Given the description of an element on the screen output the (x, y) to click on. 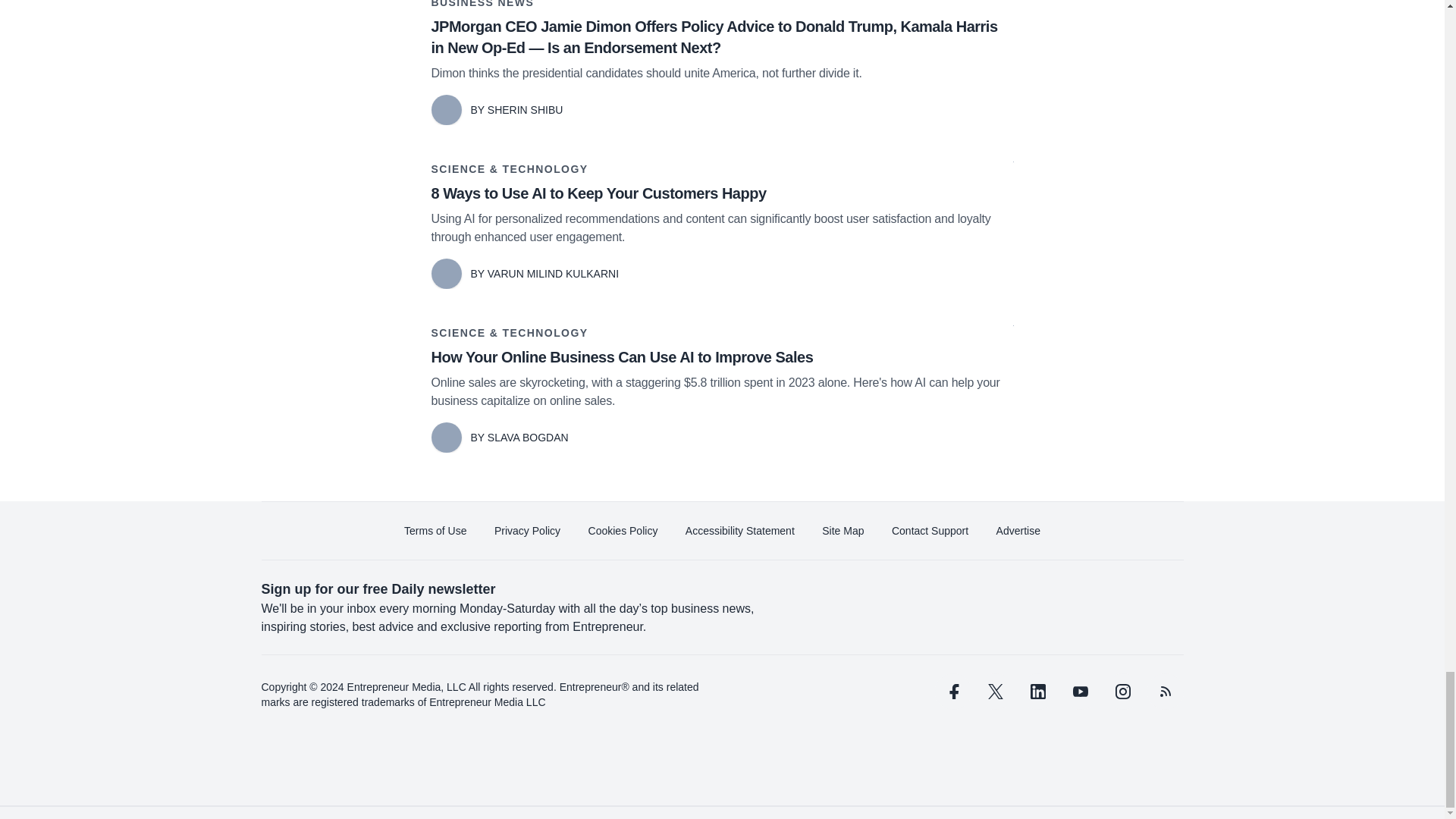
instagram (1121, 691)
linkedin (1037, 691)
youtube (1079, 691)
facebook (952, 691)
rss (1164, 691)
twitter (994, 691)
